Given the description of an element on the screen output the (x, y) to click on. 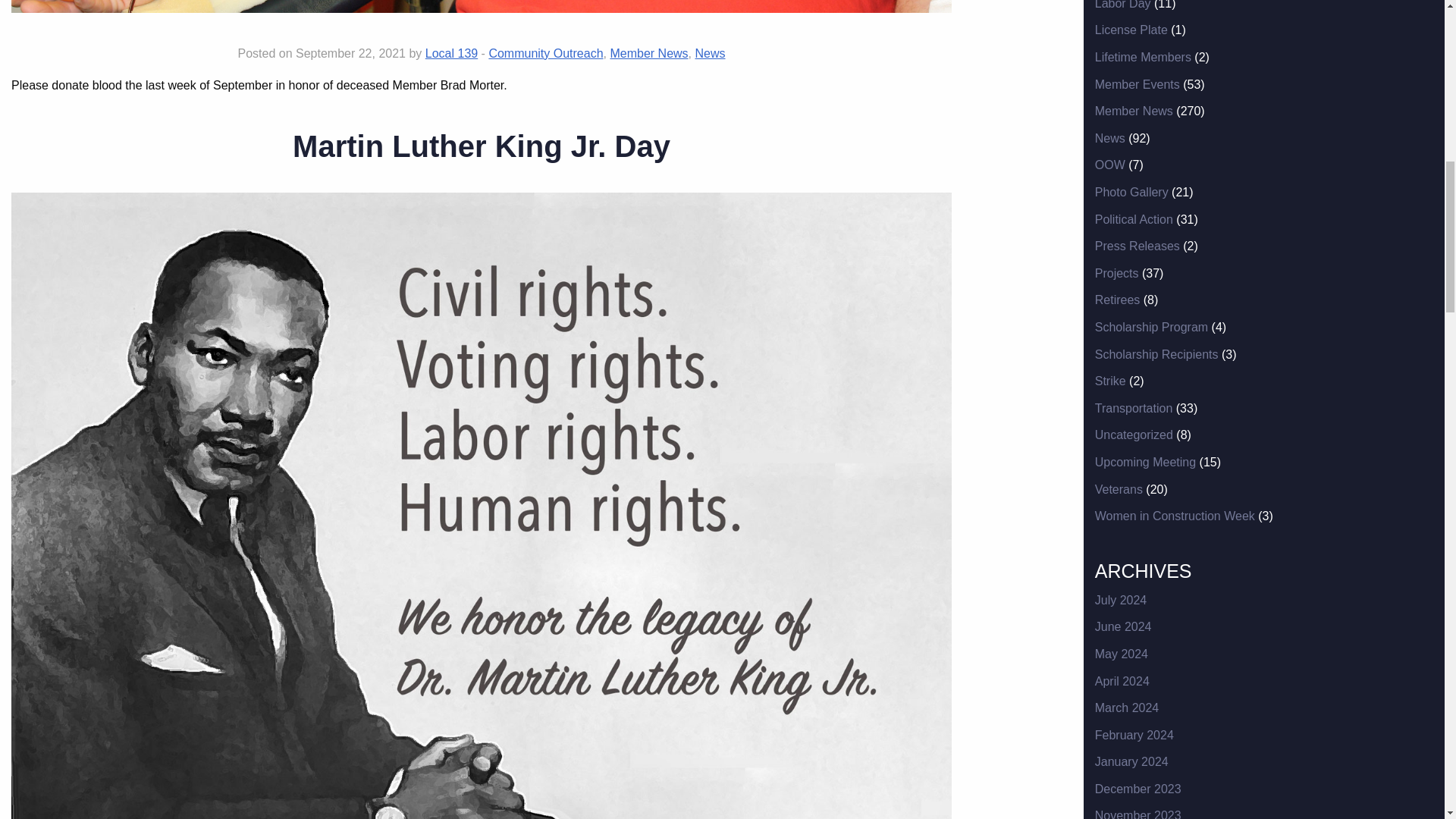
Martin Luther King Jr. Day (480, 145)
Posts by Local 139 (451, 52)
